Given the description of an element on the screen output the (x, y) to click on. 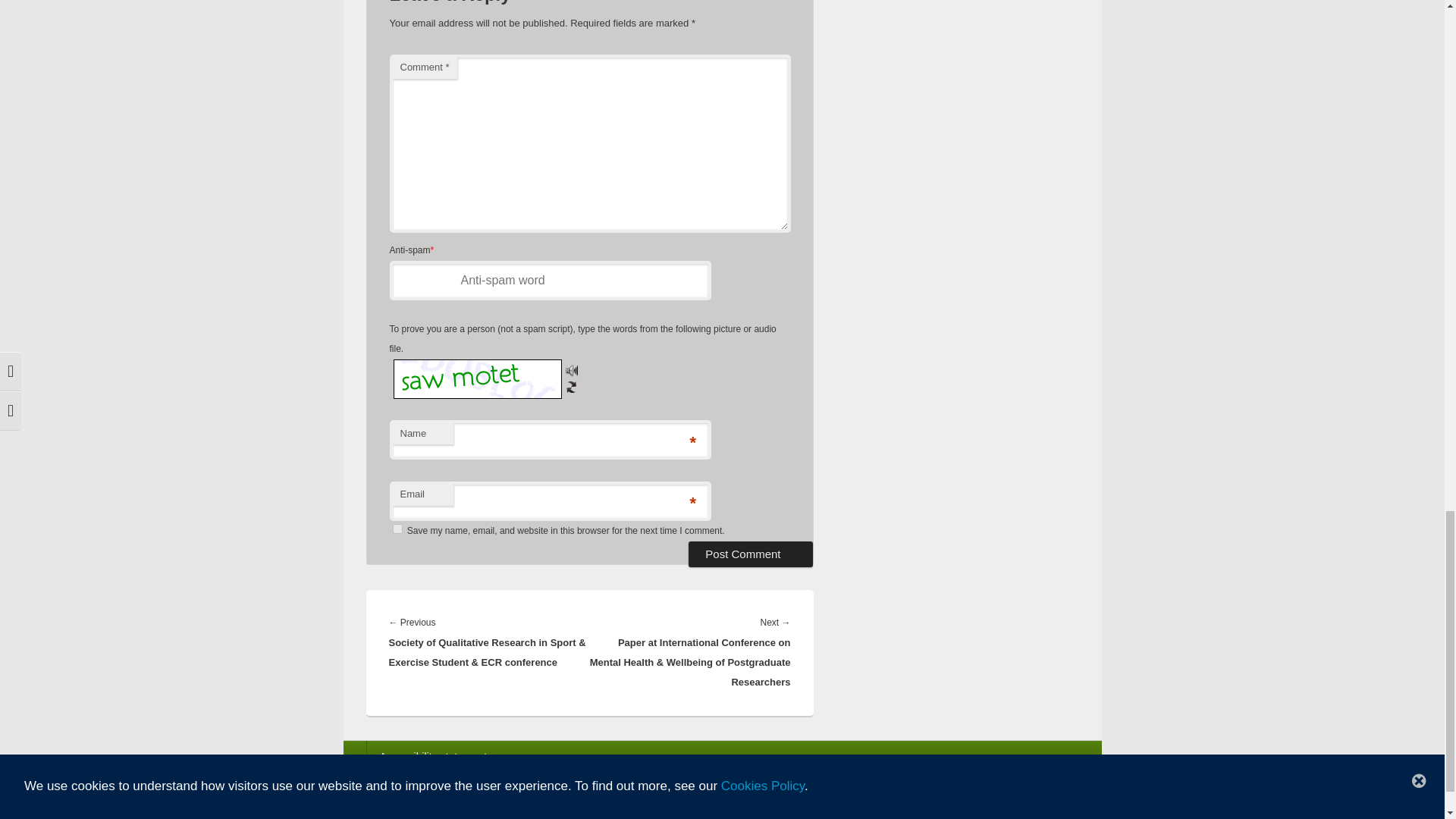
Health Advancement Research Team (517, 810)
yes (398, 528)
Post Comment (750, 554)
Catch Themes (1047, 810)
